Given the description of an element on the screen output the (x, y) to click on. 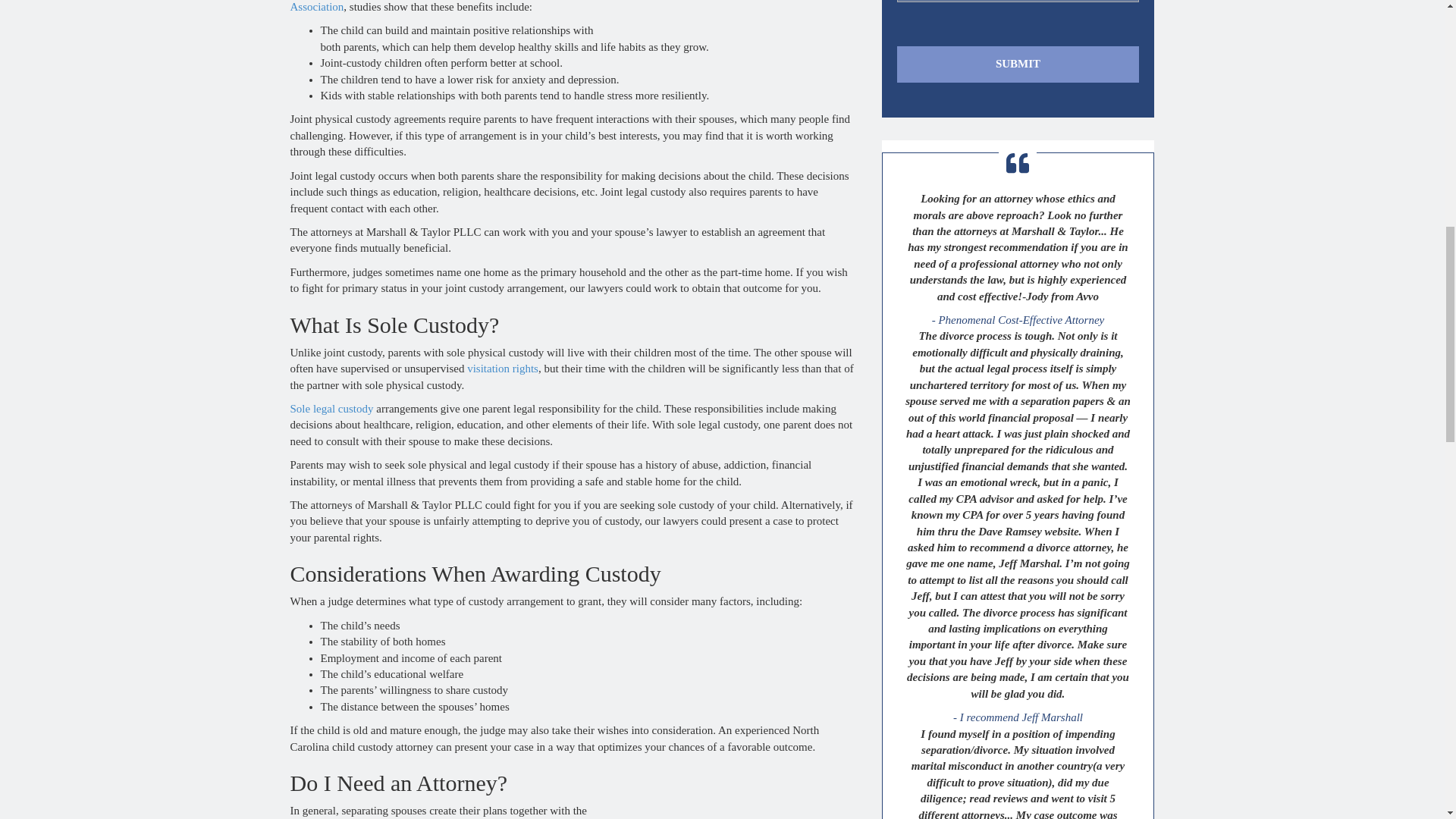
Sole legal custody (330, 408)
visitation rights (502, 368)
American Psychological Association (435, 6)
Submit (1017, 63)
Submit (1017, 63)
